Given the description of an element on the screen output the (x, y) to click on. 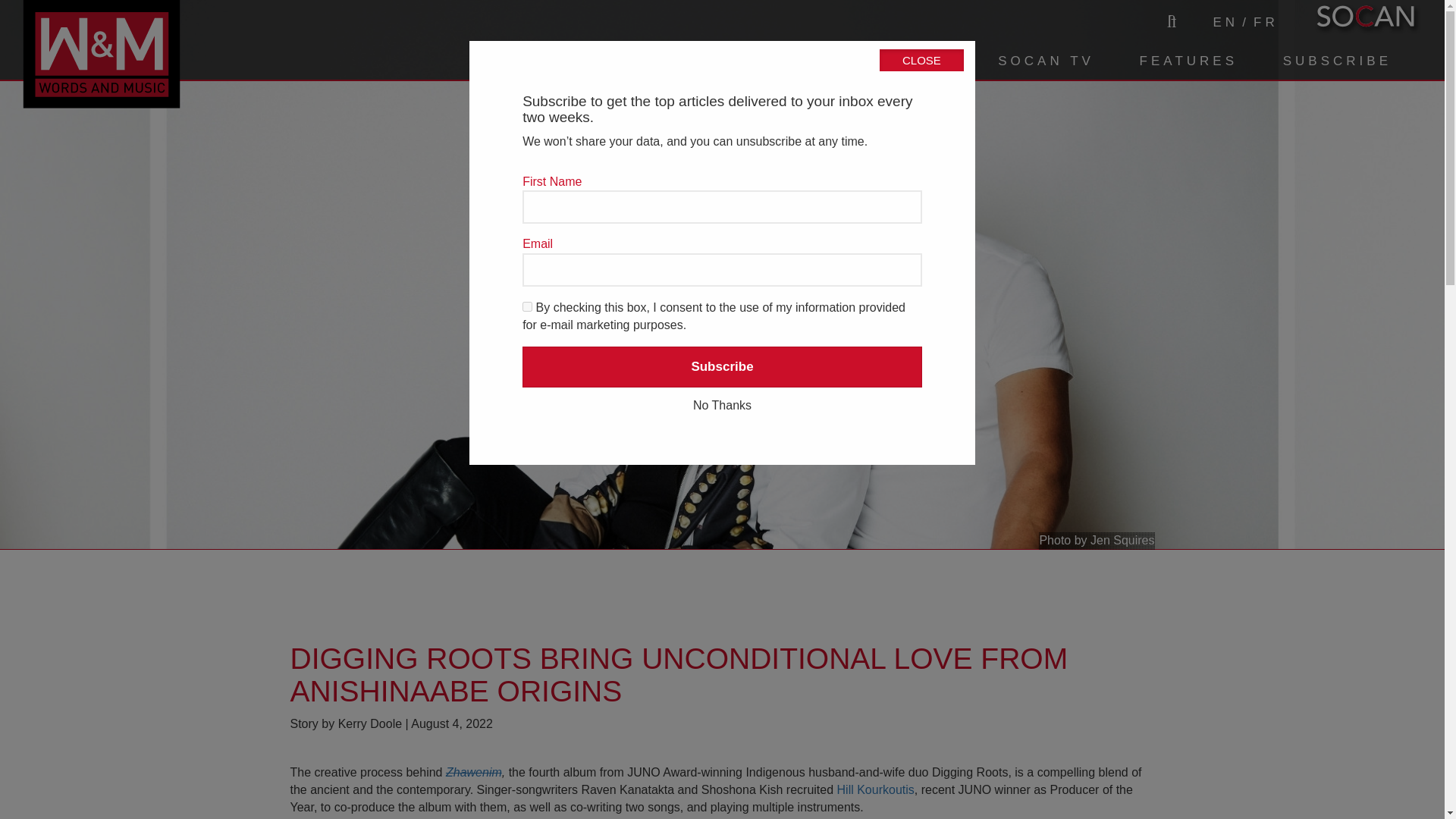
FR (1265, 22)
EN (1225, 22)
1 (527, 307)
SOCAN TV (1045, 60)
SEARCH TOGGLE (1169, 21)
NEWS (926, 60)
FEATURES (1188, 60)
